Given the description of an element on the screen output the (x, y) to click on. 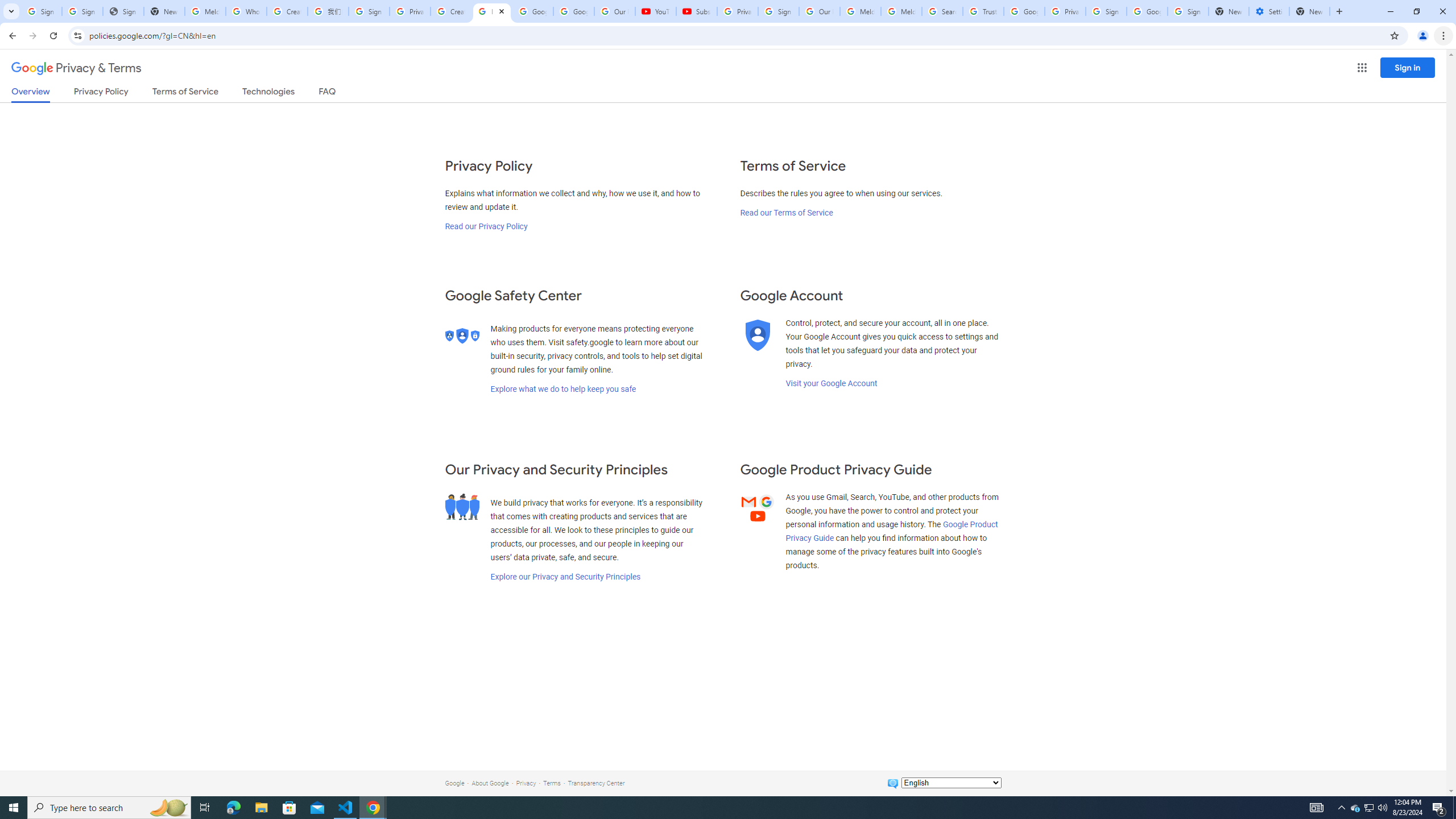
Who is my administrator? - Google Account Help (246, 11)
Explore our Privacy and Security Principles (565, 576)
Sign in - Google Accounts (1105, 11)
Google Ads - Sign in (1023, 11)
Privacy Policy (100, 93)
Create your Google Account (287, 11)
Transparency Center (595, 783)
View site information (77, 35)
Google Product Privacy Guide (891, 530)
About Google (490, 783)
Terms (551, 783)
Explore what we do to help keep you safe (563, 388)
